Given the description of an element on the screen output the (x, y) to click on. 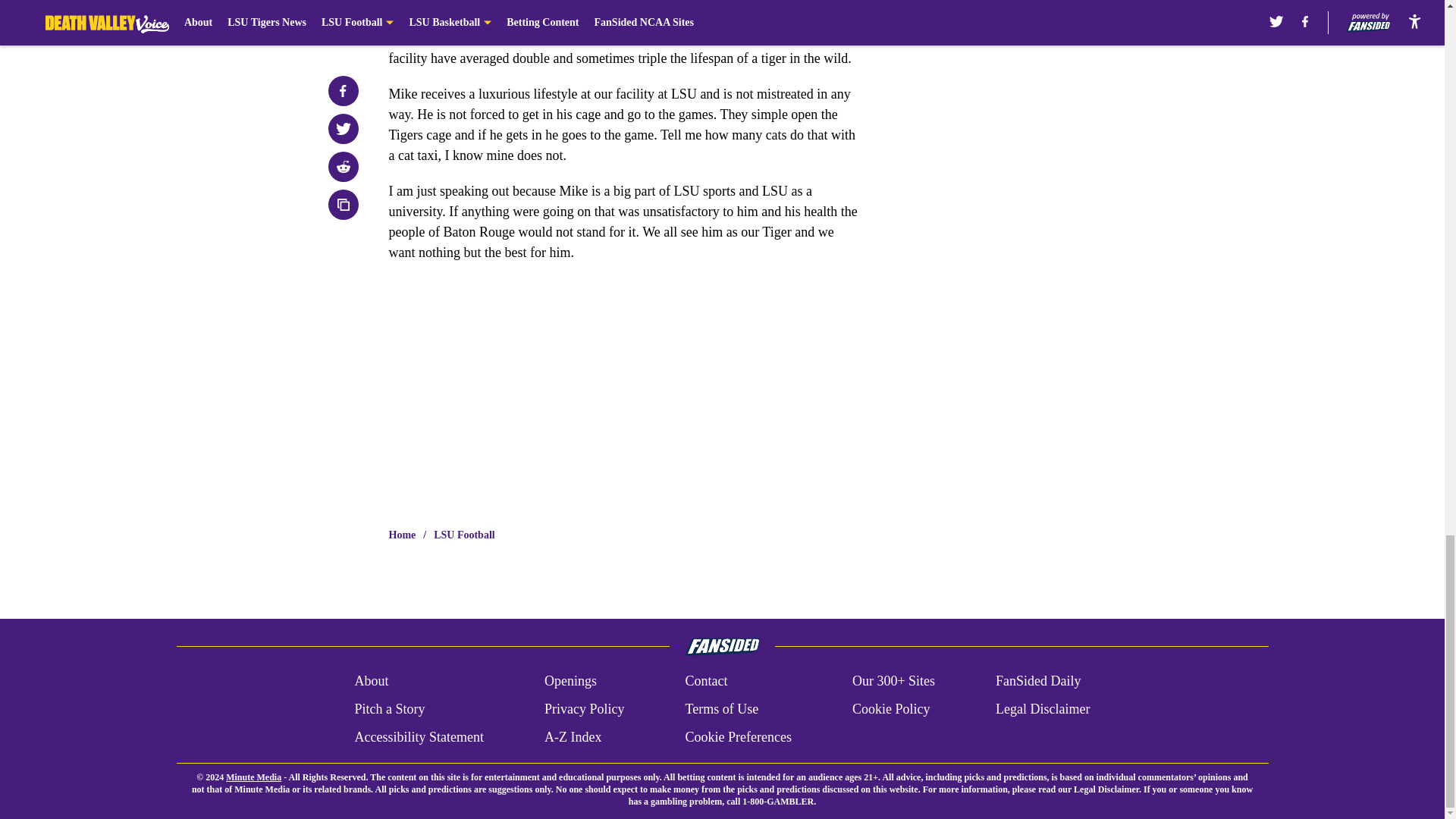
Accessibility Statement (418, 737)
Contact (705, 680)
A-Z Index (572, 737)
Cookie Policy (890, 709)
Cookie Preferences (737, 737)
LSU Football (464, 534)
Terms of Use (721, 709)
Privacy Policy (584, 709)
About (370, 680)
FanSided Daily (1038, 680)
